Given the description of an element on the screen output the (x, y) to click on. 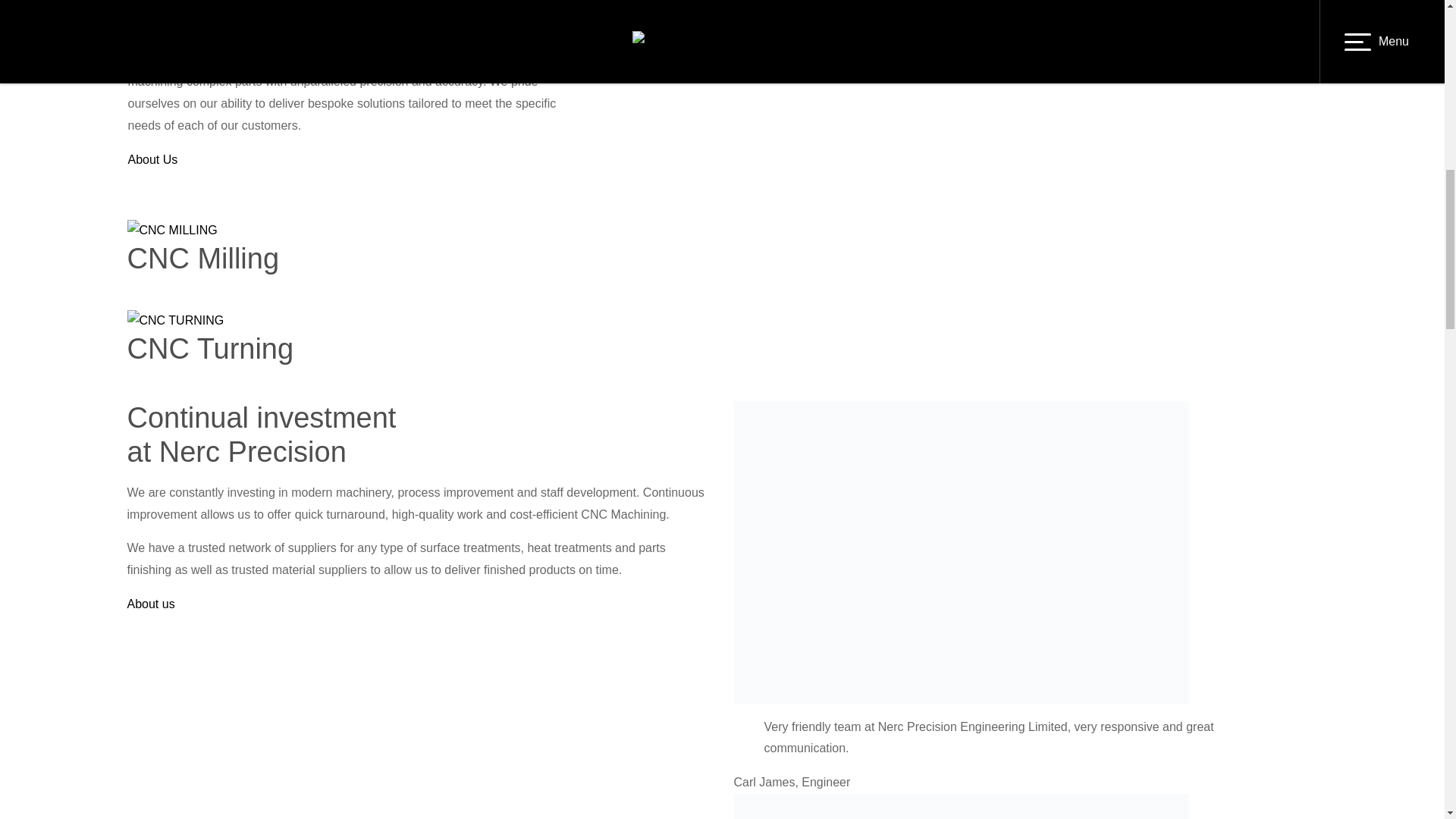
CNC MILLING (172, 230)
CNC TURNING (176, 321)
About us (722, 275)
About Us (151, 603)
Main image - NERC Homepage 3 (152, 159)
